Given the description of an element on the screen output the (x, y) to click on. 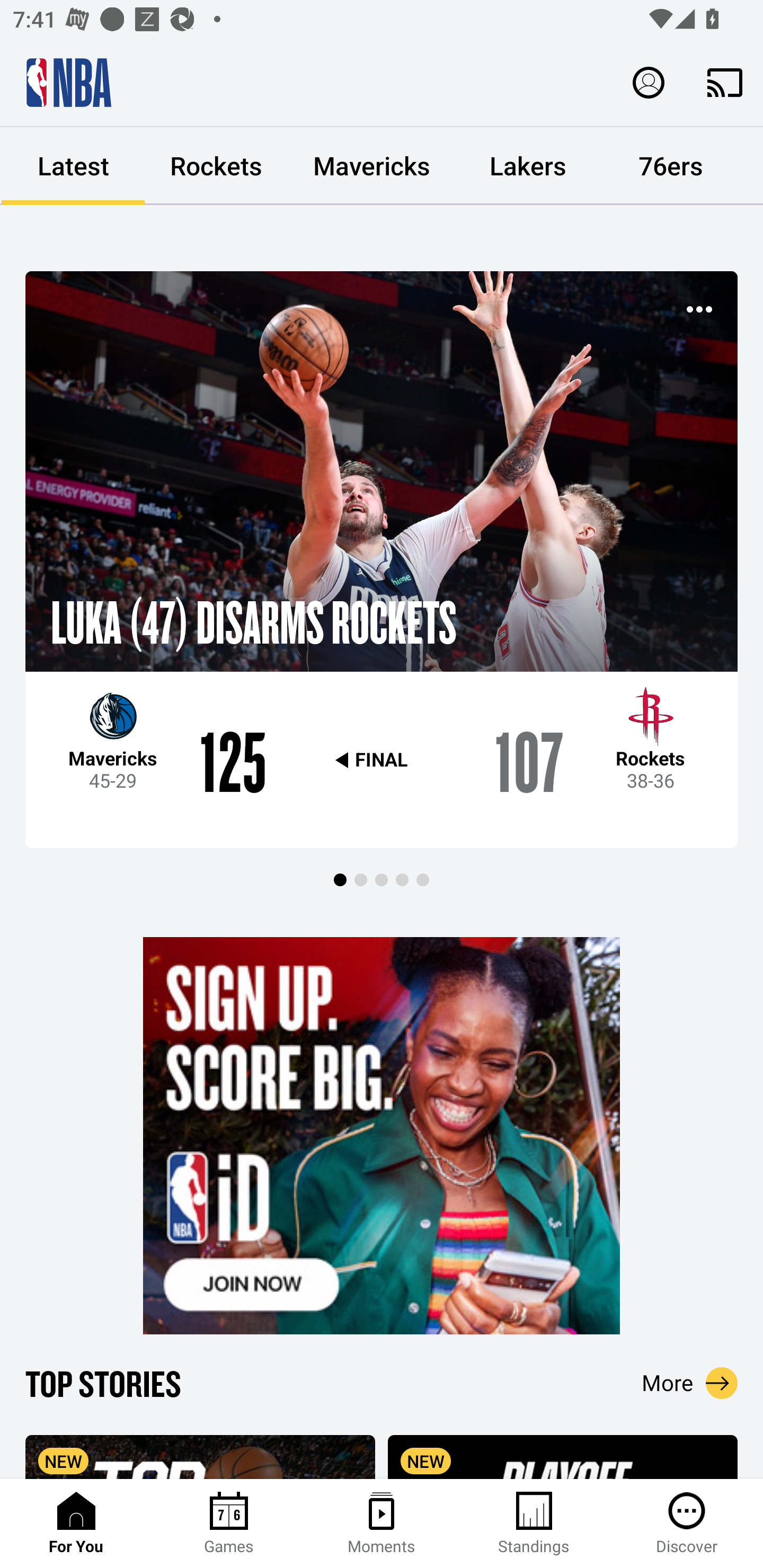
Cast. Disconnected (724, 82)
Profile (648, 81)
Rockets (215, 166)
Mavericks (371, 166)
Lakers (527, 166)
76ers (670, 166)
g5nqqygr7owph (381, 1135)
More (689, 1382)
Games (228, 1523)
Moments (381, 1523)
Standings (533, 1523)
Discover (686, 1523)
